Given the description of an element on the screen output the (x, y) to click on. 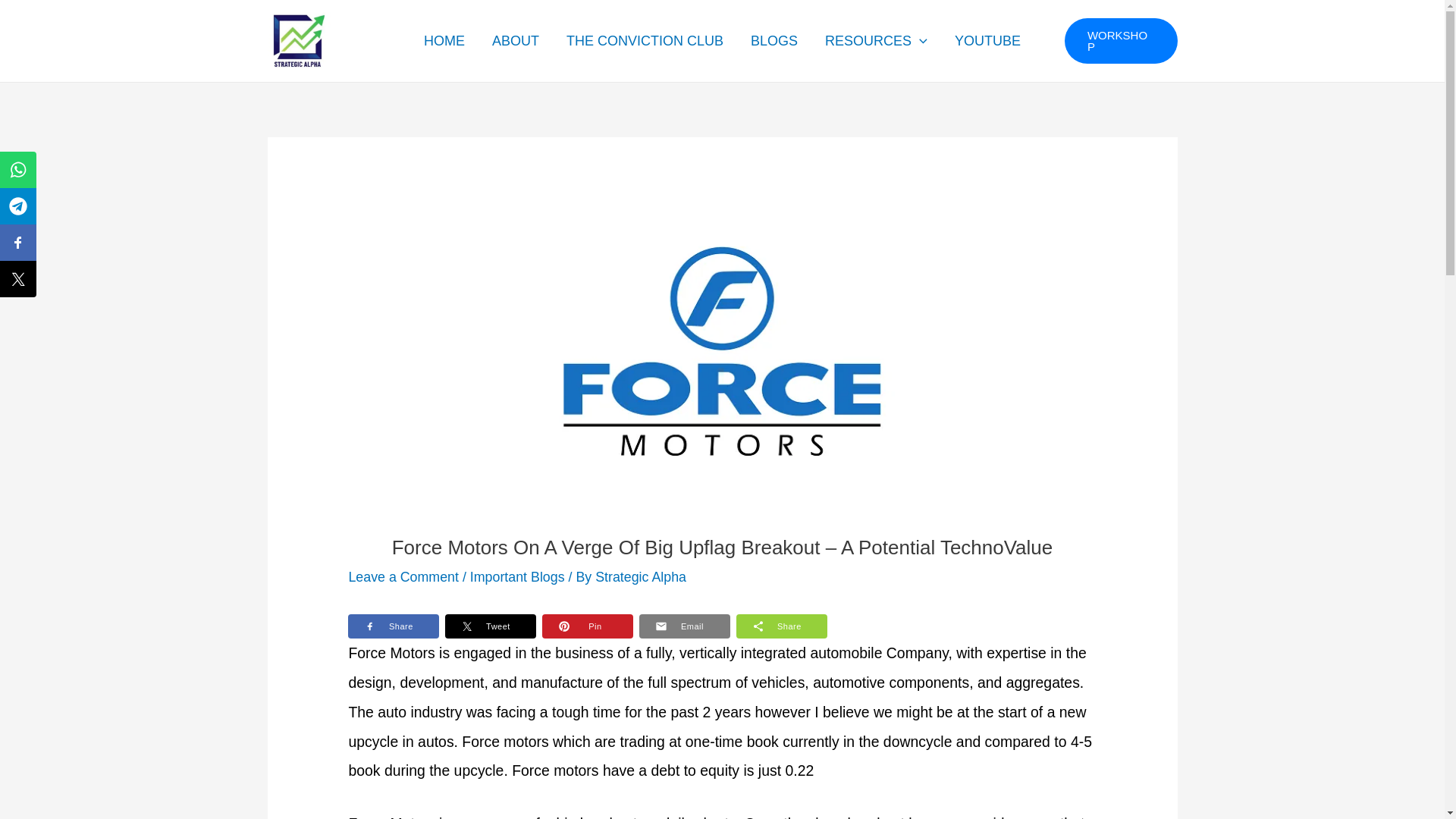
HOME (444, 40)
Important Blogs (517, 576)
Leave a Comment (402, 576)
WORKSHOP (1120, 40)
Strategic Alpha (640, 576)
ABOUT (516, 40)
View all posts by Strategic Alpha (640, 576)
RESOURCES (875, 40)
YOUTUBE (986, 40)
THE CONVICTION CLUB (644, 40)
BLOGS (773, 40)
